Given the description of an element on the screen output the (x, y) to click on. 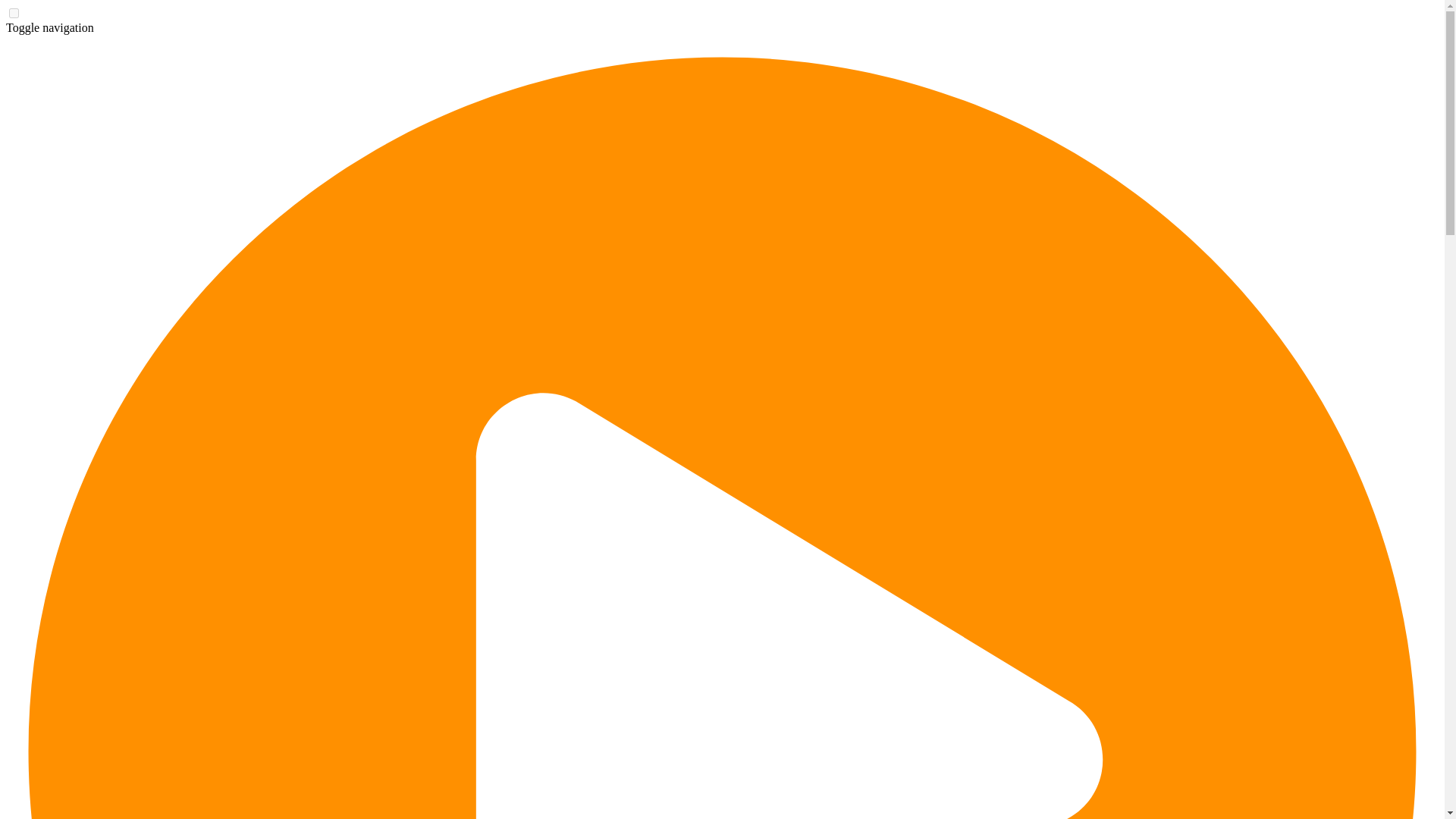
on (13, 13)
